Given the description of an element on the screen output the (x, y) to click on. 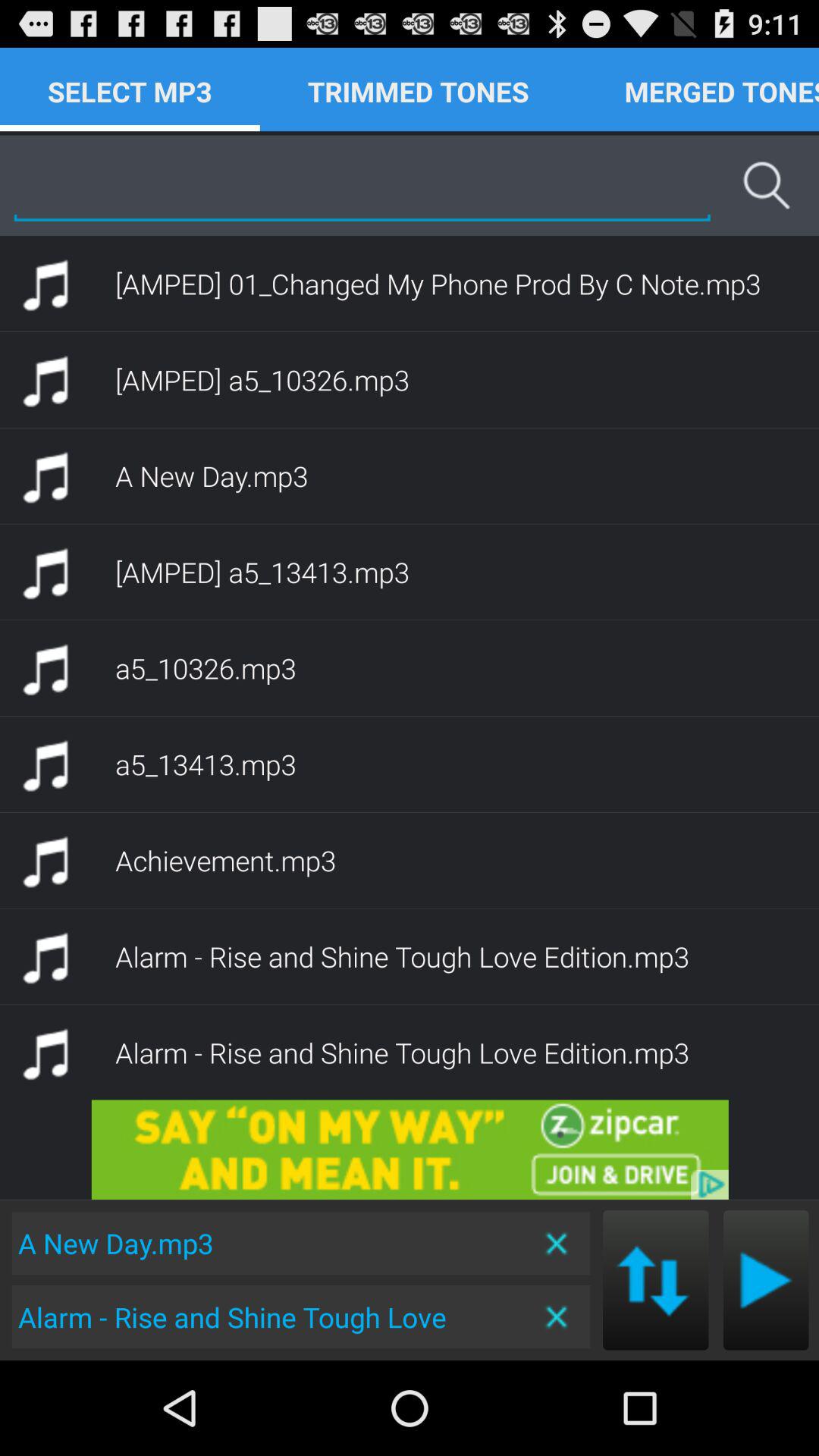
select the close button (557, 1316)
